Given the description of an element on the screen output the (x, y) to click on. 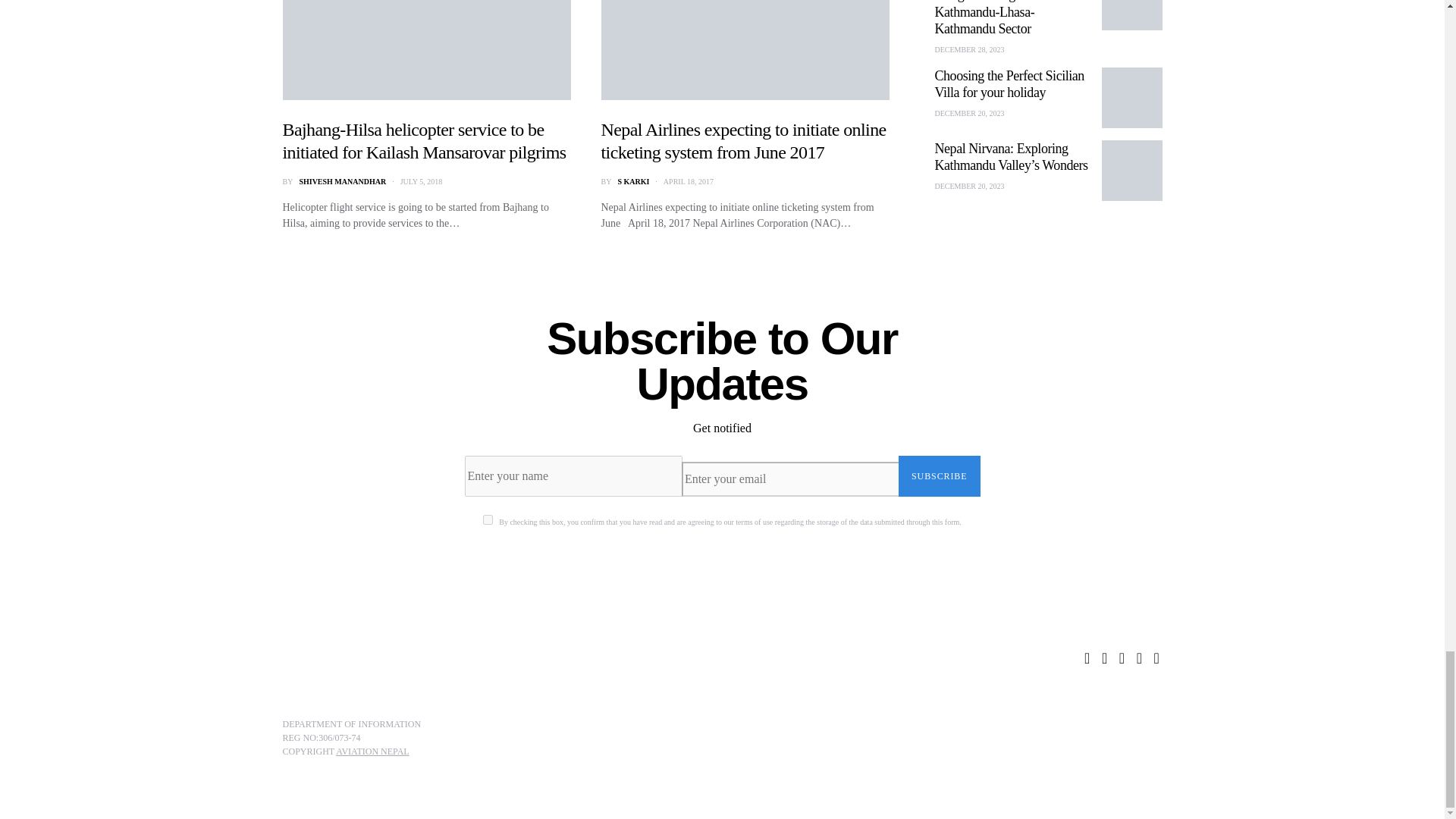
View all posts by S Karki (633, 181)
View all posts by Shivesh Manandhar (341, 181)
on (488, 519)
